Given the description of an element on the screen output the (x, y) to click on. 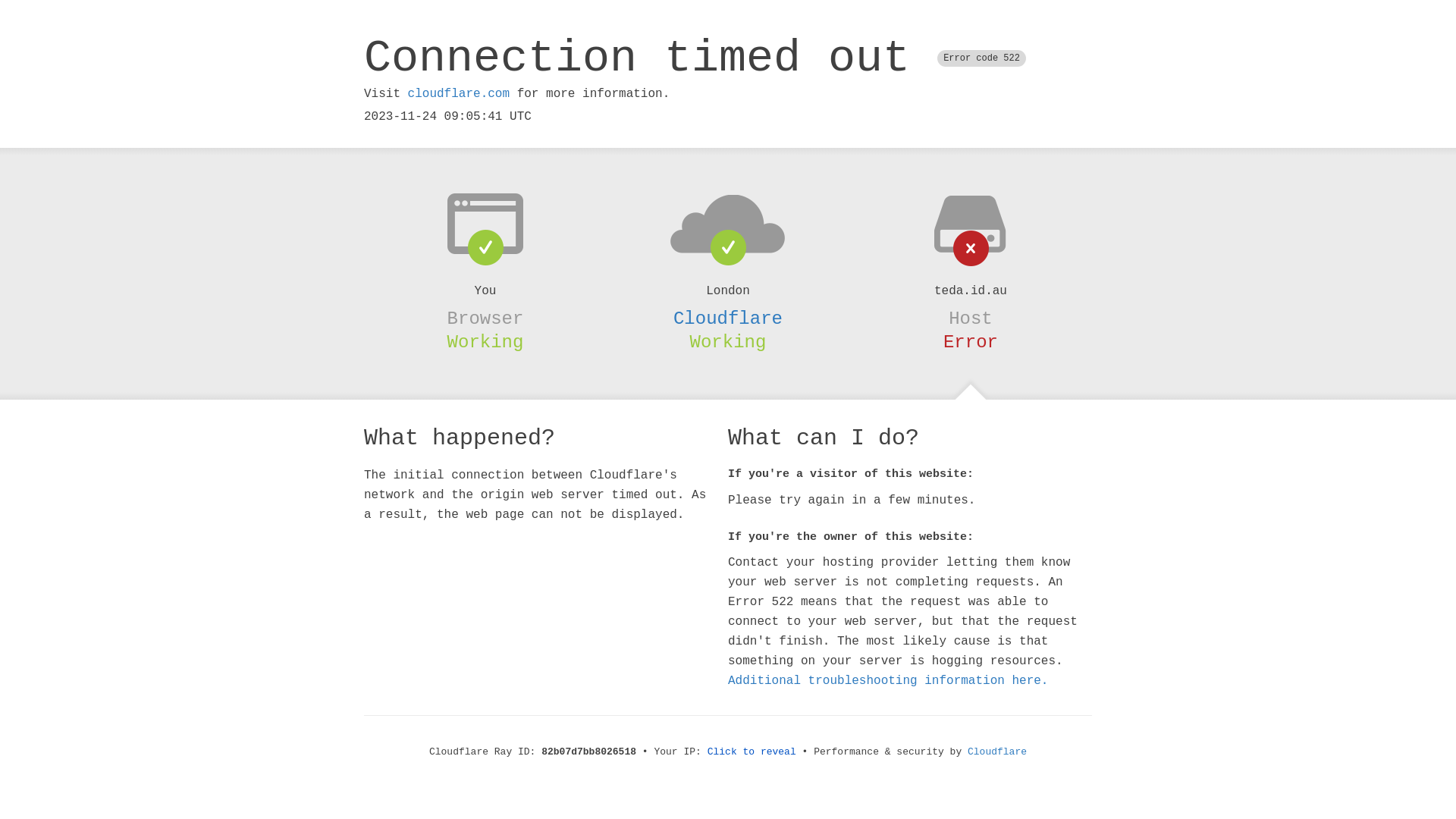
Additional troubleshooting information here. Element type: text (888, 680)
Cloudflare Element type: text (727, 318)
cloudflare.com Element type: text (458, 93)
Cloudflare Element type: text (996, 751)
Click to reveal Element type: text (751, 751)
